Given the description of an element on the screen output the (x, y) to click on. 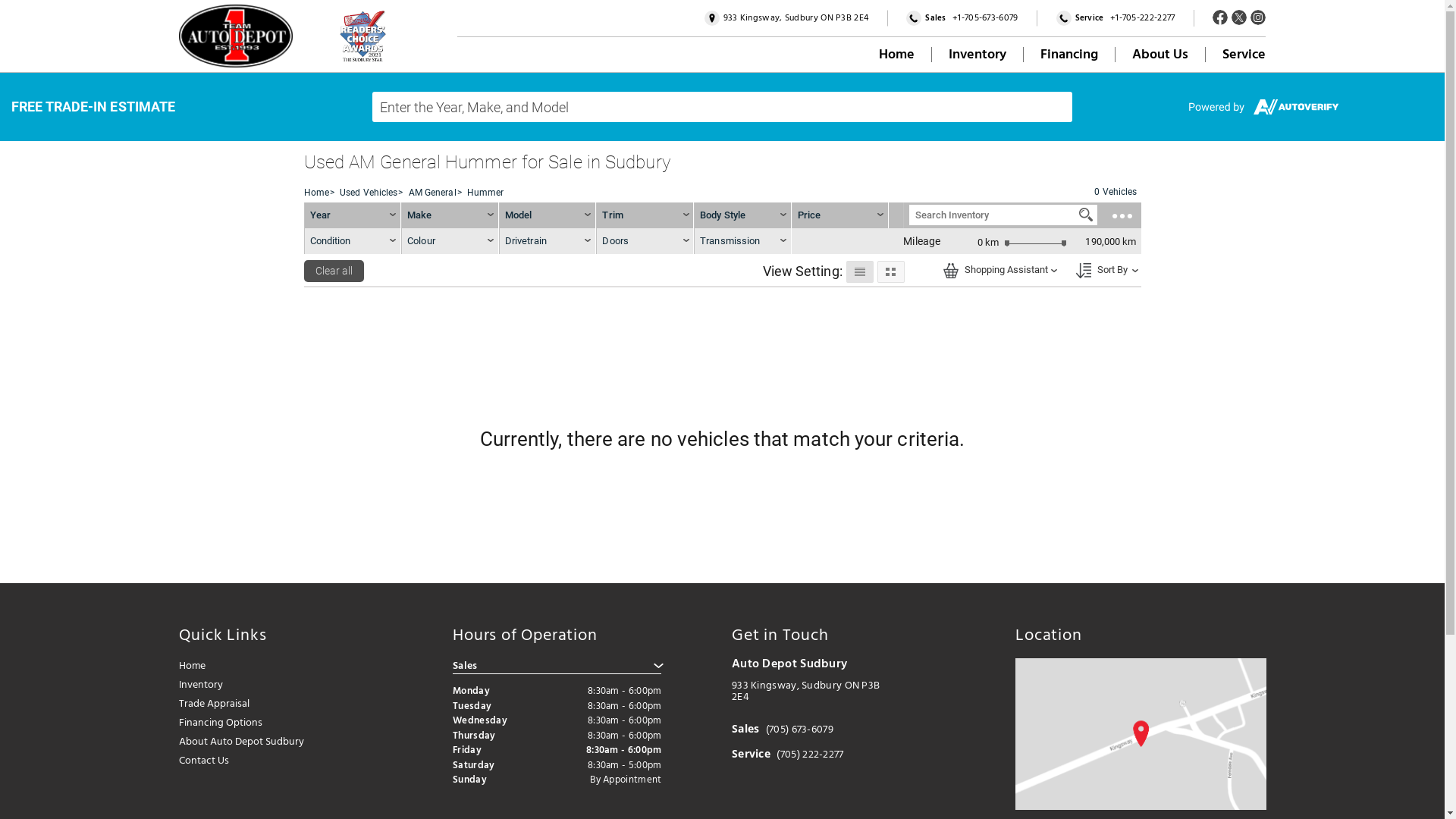
Financing Element type: text (1069, 54)
Service Element type: text (1243, 54)
Condition Element type: text (352, 241)
Sort By Element type: hover (1082, 270)
Home Element type: text (315, 192)
Contact Us Element type: text (257, 760)
933 Kingsway,
Sudbury ON P3B 2E4 Element type: text (786, 17)
Colour Element type: text (449, 241)
Year Element type: text (352, 215)
Sales (705) 673-6079 Element type: text (782, 728)
Location Image Map Element type: hover (1140, 733)
Home Element type: text (257, 665)
Used Vehicles Element type: text (368, 192)
Drivetrain Element type: text (547, 241)
Make Element type: text (449, 215)
About Auto Depot Sudbury Element type: text (257, 741)
933 Kingsway,
Sudbury ON P3B 2E4 Element type: text (805, 690)
Sort By Element type: text (1102, 269)
Trim Element type: text (644, 215)
Search Element type: hover (1085, 214)
Service +1-705-222-2277 Element type: text (1115, 17)
AM General Element type: text (432, 192)
Doors Element type: text (644, 241)
Inventory Element type: text (257, 684)
Body Style Element type: text (742, 215)
Shopping Assistant Element type: hover (950, 270)
Trade Appraisal Element type: text (257, 703)
Transmission Element type: text (742, 241)
Model Element type: text (547, 215)
Home Element type: text (896, 54)
Financing Options Element type: text (257, 722)
Price Element type: text (809, 214)
About Us Element type: text (1160, 54)
Clear all Element type: text (333, 271)
Inventory Element type: text (977, 54)
Sales +1-705-673-6079 Element type: text (961, 17)
Shopping Assistant Element type: text (996, 269)
Service (705) 222-2277 Element type: text (787, 753)
Listing View Element type: hover (859, 271)
Grid View Element type: hover (890, 271)
Hummer Element type: text (485, 192)
